Given the description of an element on the screen output the (x, y) to click on. 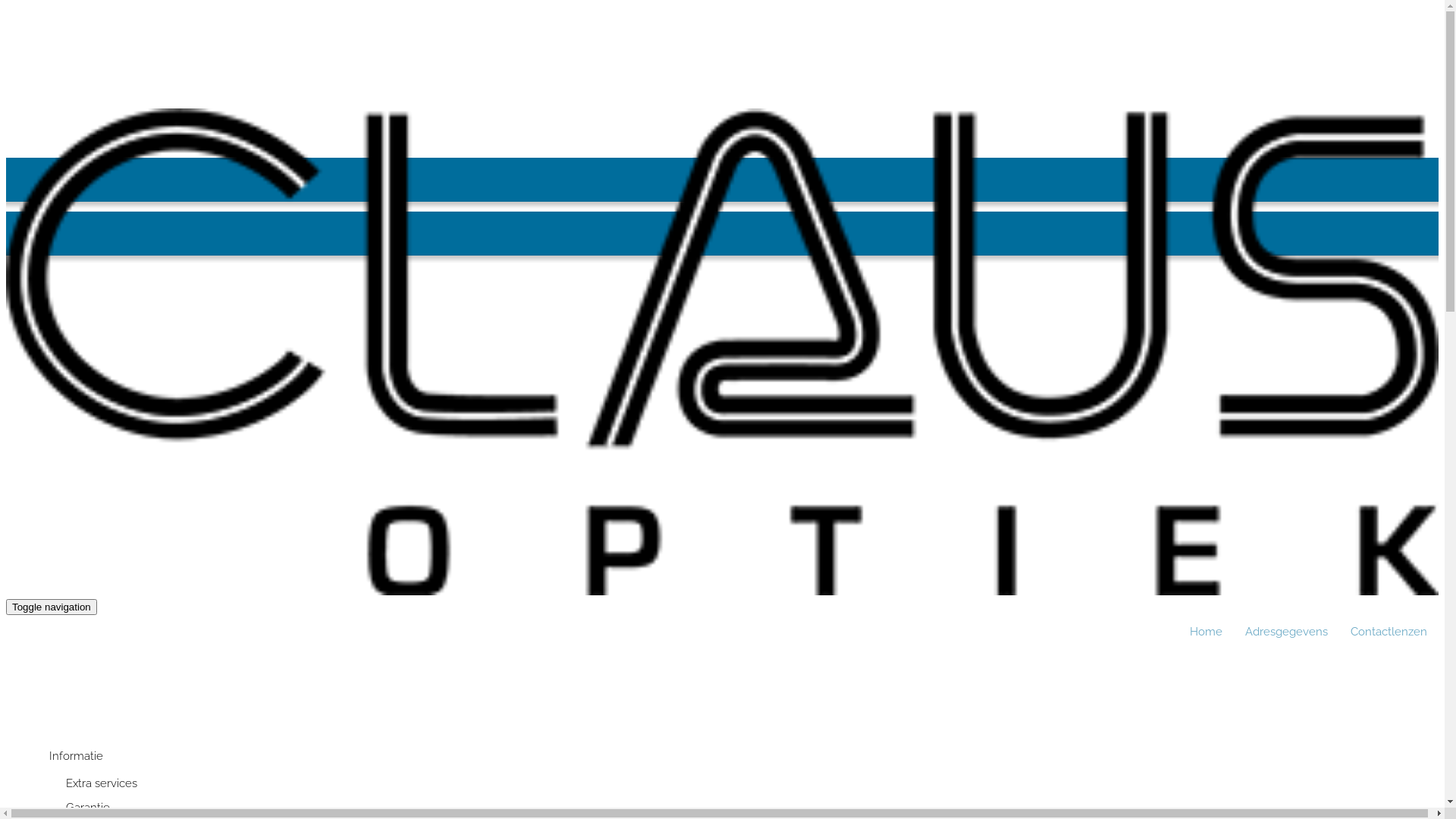
Adresgegevens Element type: text (1286, 631)
Kinderbrillen Element type: text (82, 683)
Informatie Element type: text (75, 755)
Home Element type: text (1205, 631)
Home Element type: hover (727, 591)
Glazen Element type: text (67, 731)
Toggle navigation Element type: text (51, 607)
Extra services Element type: text (101, 783)
Zonnebrillen Element type: text (82, 708)
Brillen Element type: text (65, 659)
Skip to main content Element type: text (6, 108)
Contactlenzen Element type: text (1388, 631)
